Given the description of an element on the screen output the (x, y) to click on. 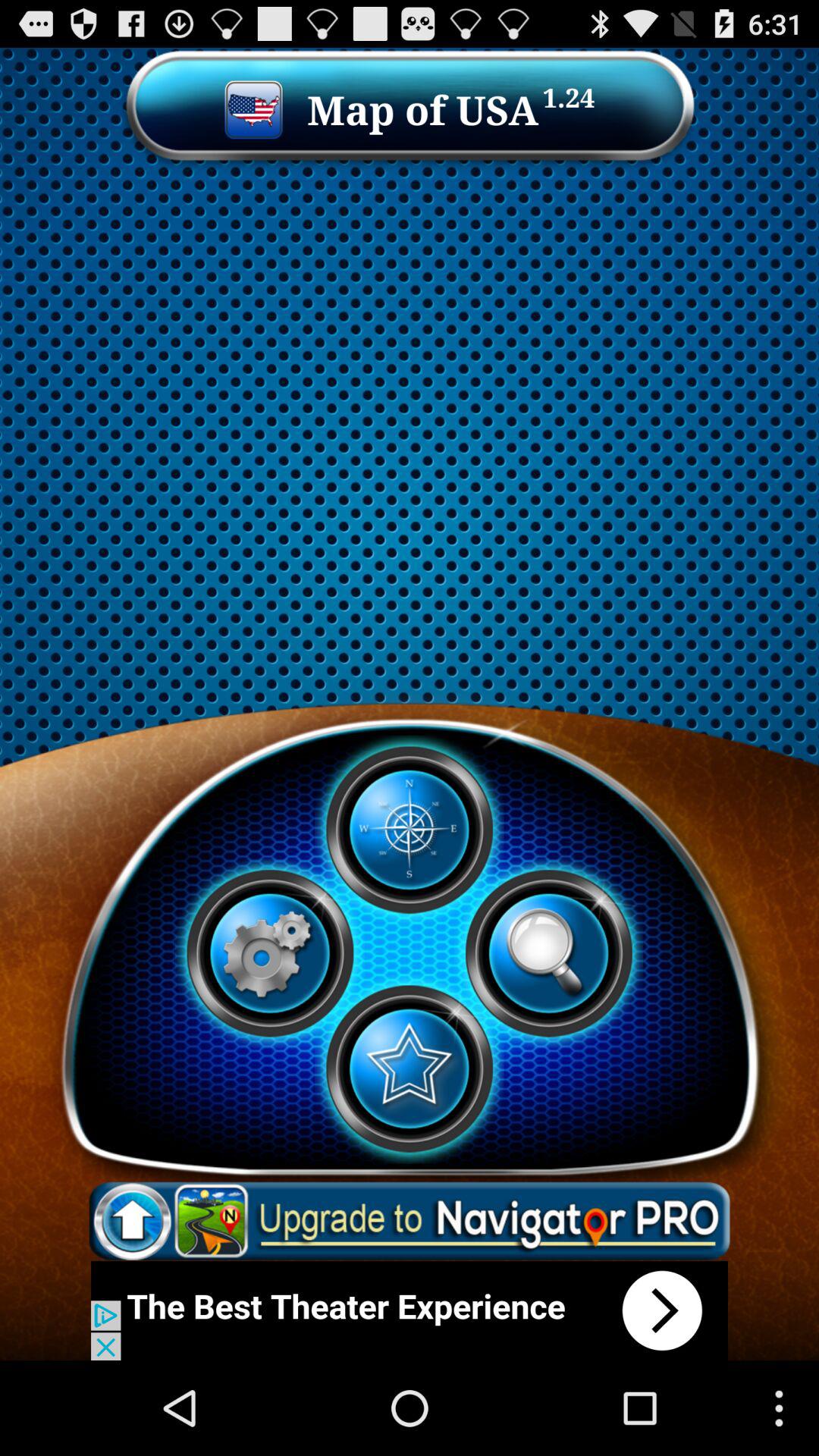
setting (269, 953)
